Given the description of an element on the screen output the (x, y) to click on. 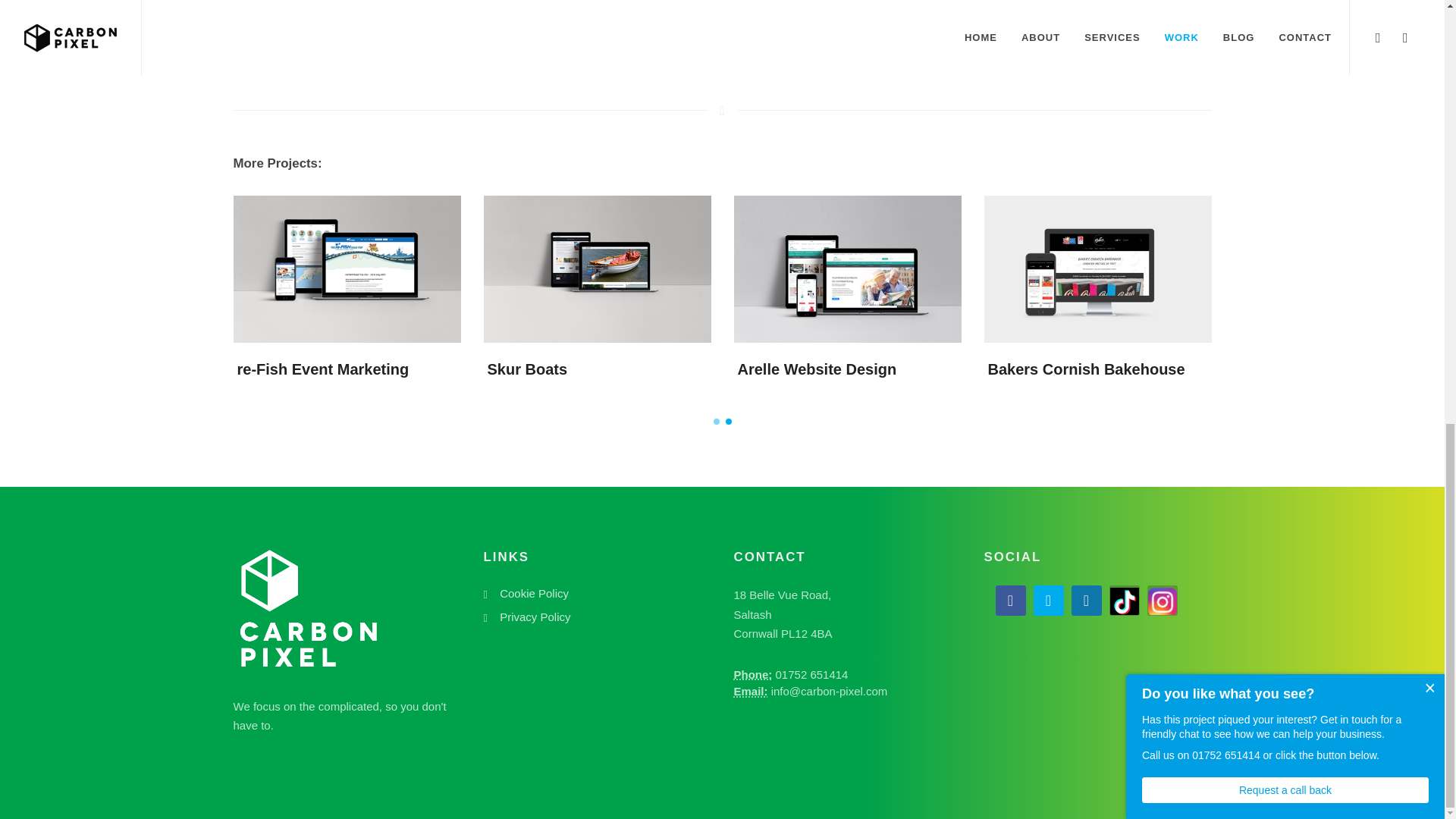
Skur Boats (526, 369)
re-Fish Event Marketing (322, 369)
Phone Number (753, 674)
Arelle Website Design (816, 369)
Email Address (750, 690)
